Given the description of an element on the screen output the (x, y) to click on. 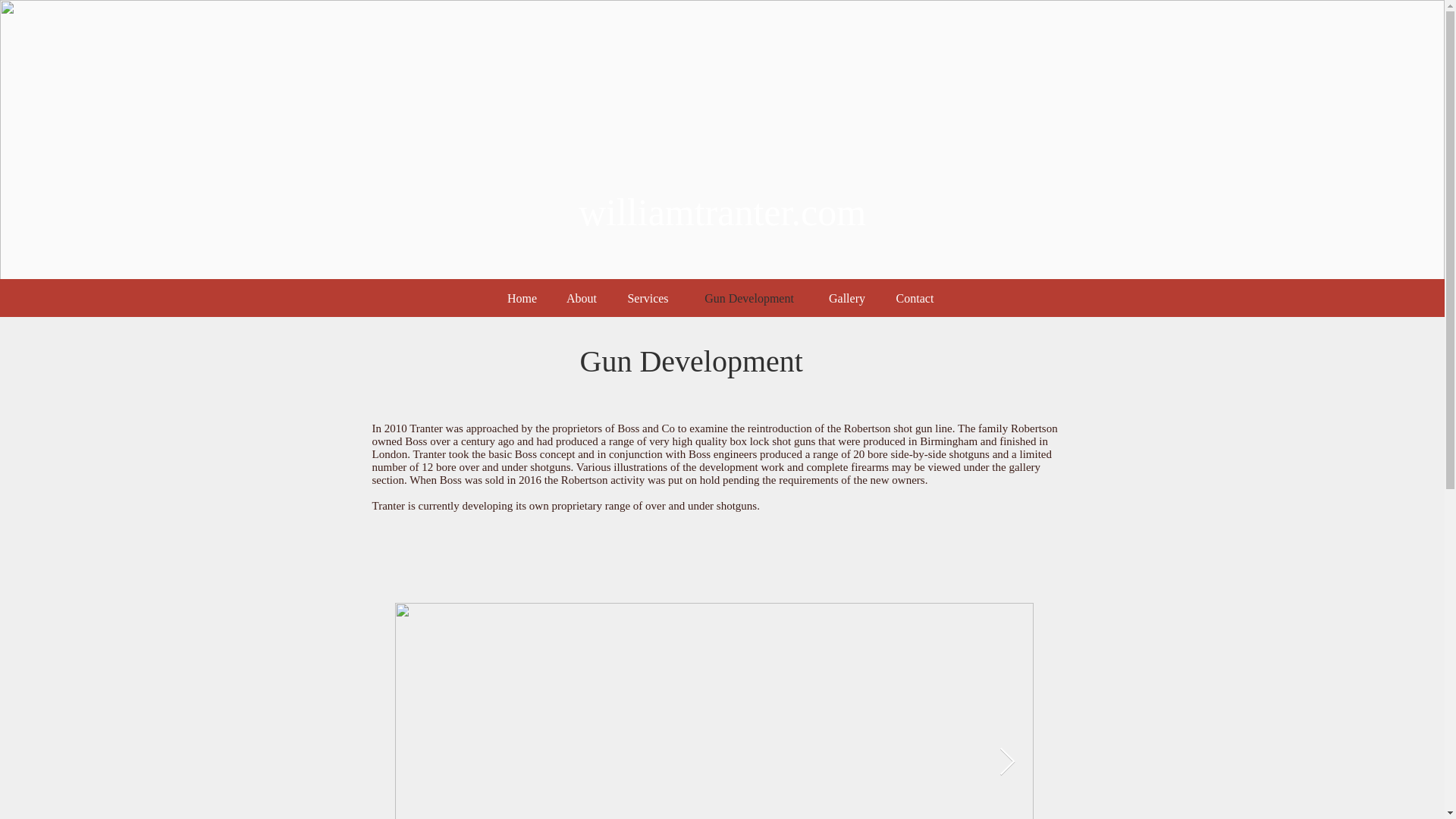
About (581, 298)
Contact (914, 298)
williamtranter.com (722, 211)
Home (522, 298)
Gun Development (748, 298)
Services (647, 298)
Gallery (846, 298)
